Given the description of an element on the screen output the (x, y) to click on. 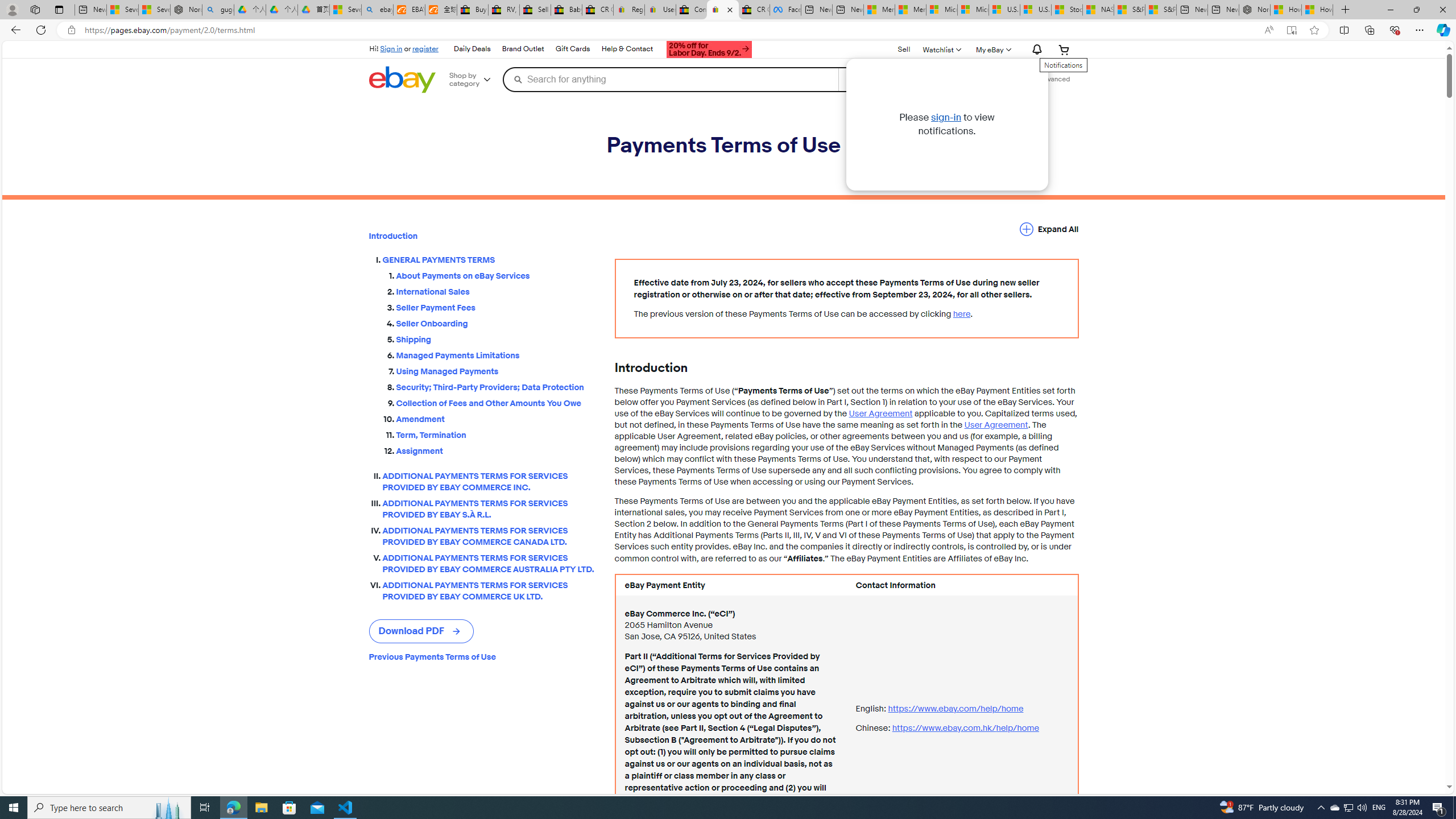
guge yunpan - Search (218, 9)
Sell (903, 49)
Advanced Search (1053, 78)
Assignment (496, 451)
Help & Contact (627, 49)
Managed Payments Limitations (496, 355)
Watchlist (940, 49)
